Given the description of an element on the screen output the (x, y) to click on. 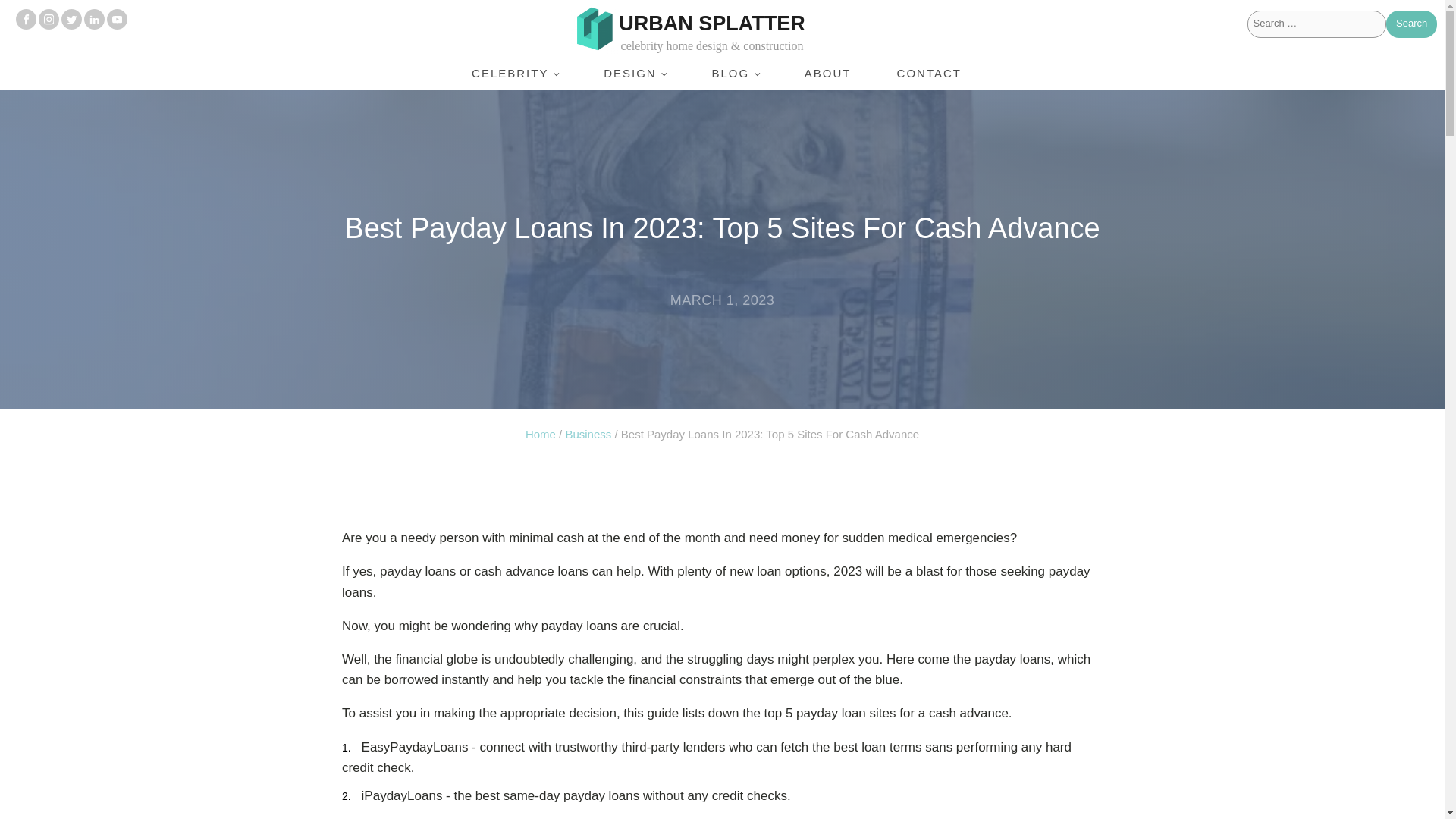
Search (1411, 23)
BLOG (734, 73)
DESIGN (634, 73)
Search (1411, 23)
CELEBRITY (514, 73)
Search (1411, 23)
